Given the description of an element on the screen output the (x, y) to click on. 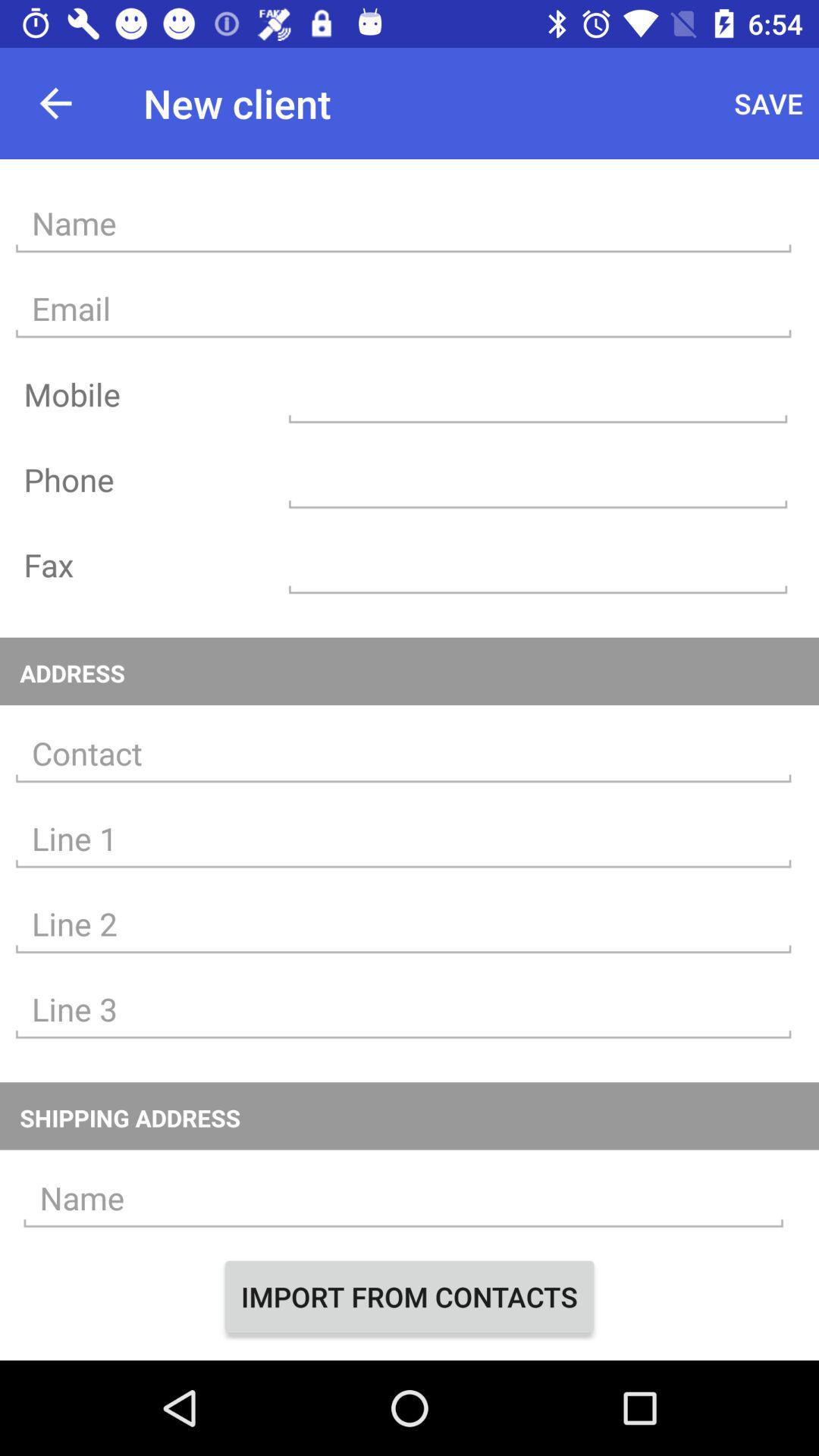
enter first line of address (403, 838)
